Given the description of an element on the screen output the (x, y) to click on. 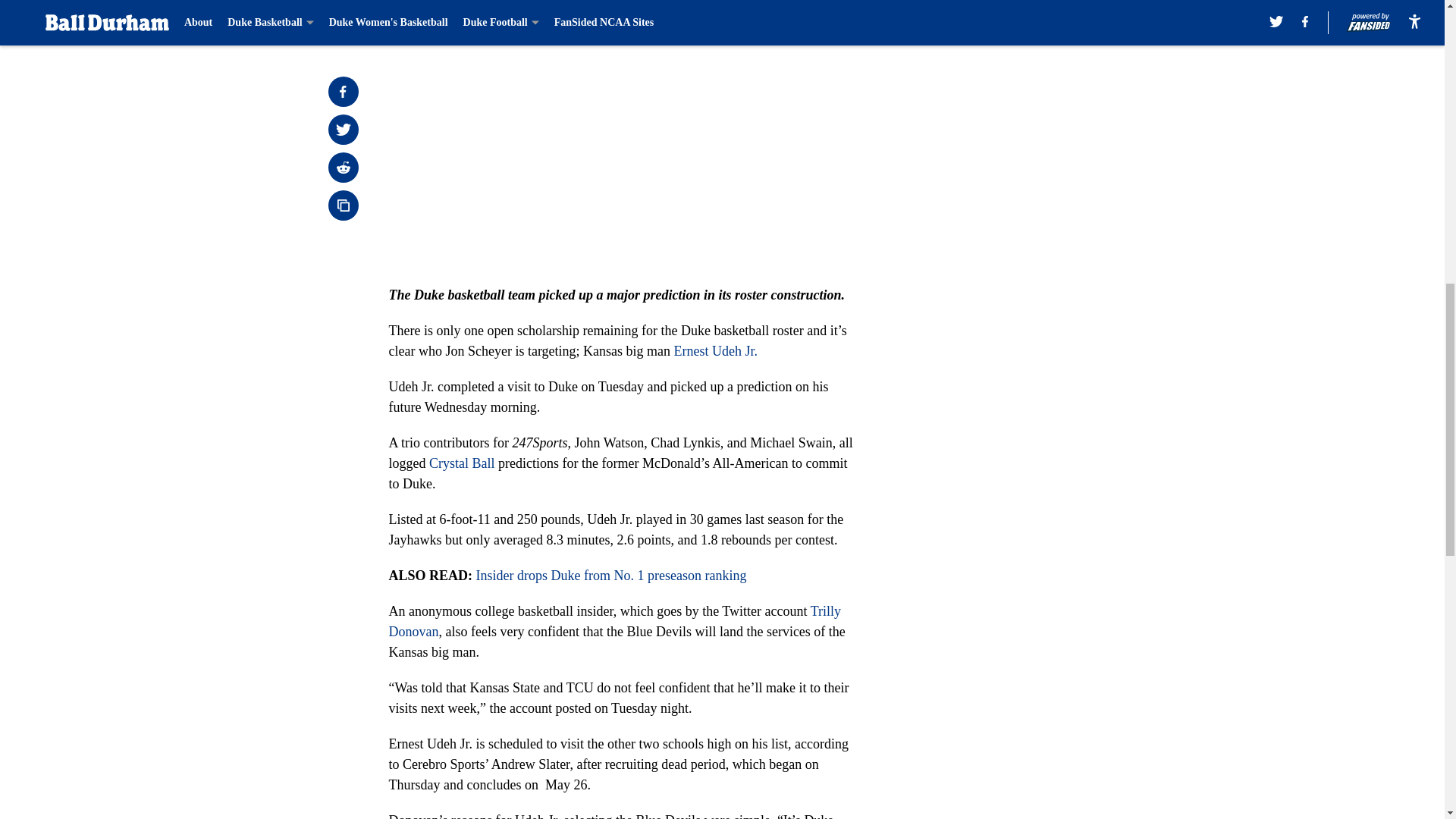
Insider drops Duke from No. 1 preseason ranking (611, 575)
Ernest Udeh Jr.  (717, 350)
Crystal Ball (462, 462)
Trilly Donovan (614, 621)
